Given the description of an element on the screen output the (x, y) to click on. 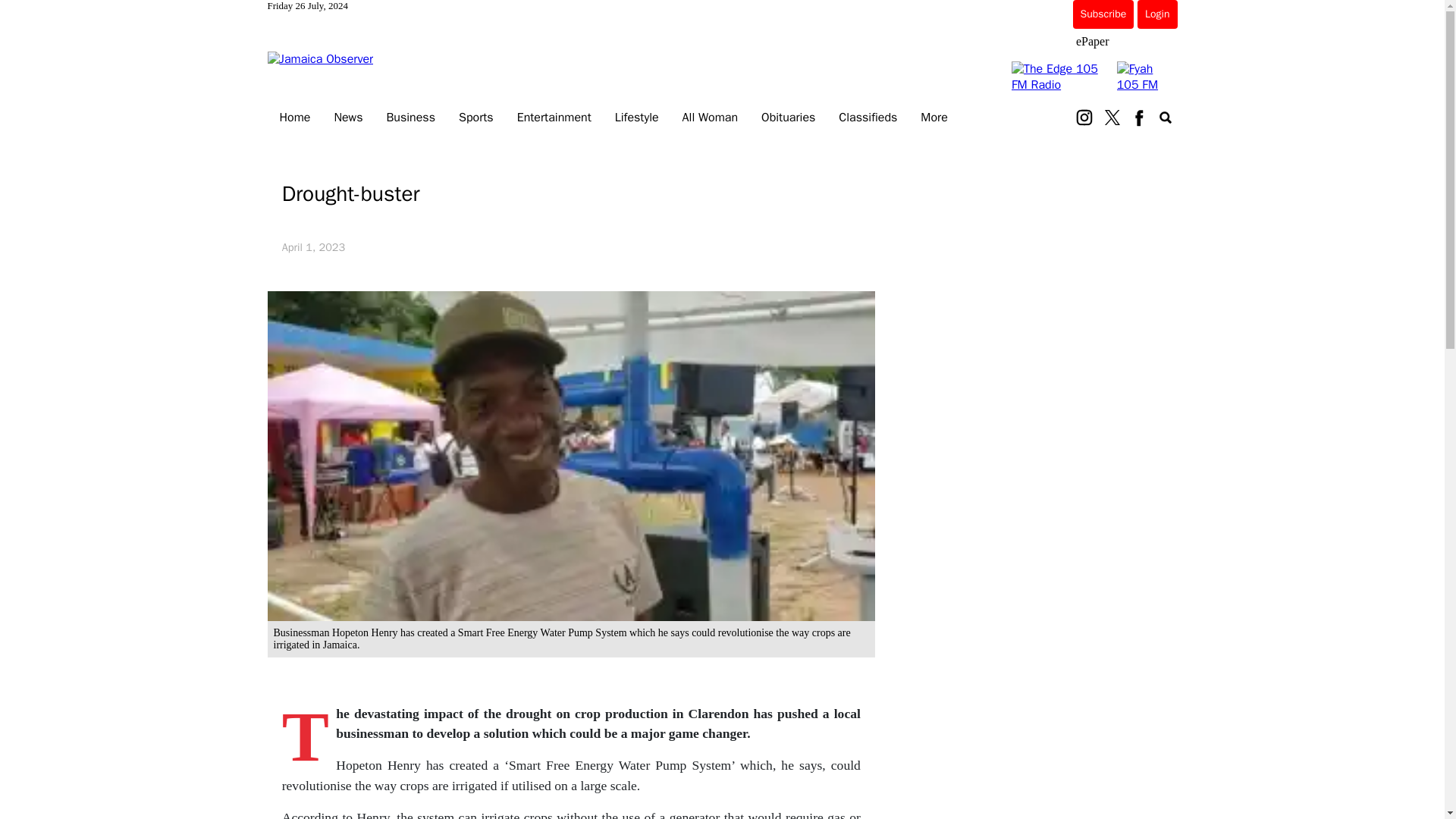
Login (1156, 14)
Subscribe (1103, 14)
ePaper (1092, 41)
